Given the description of an element on the screen output the (x, y) to click on. 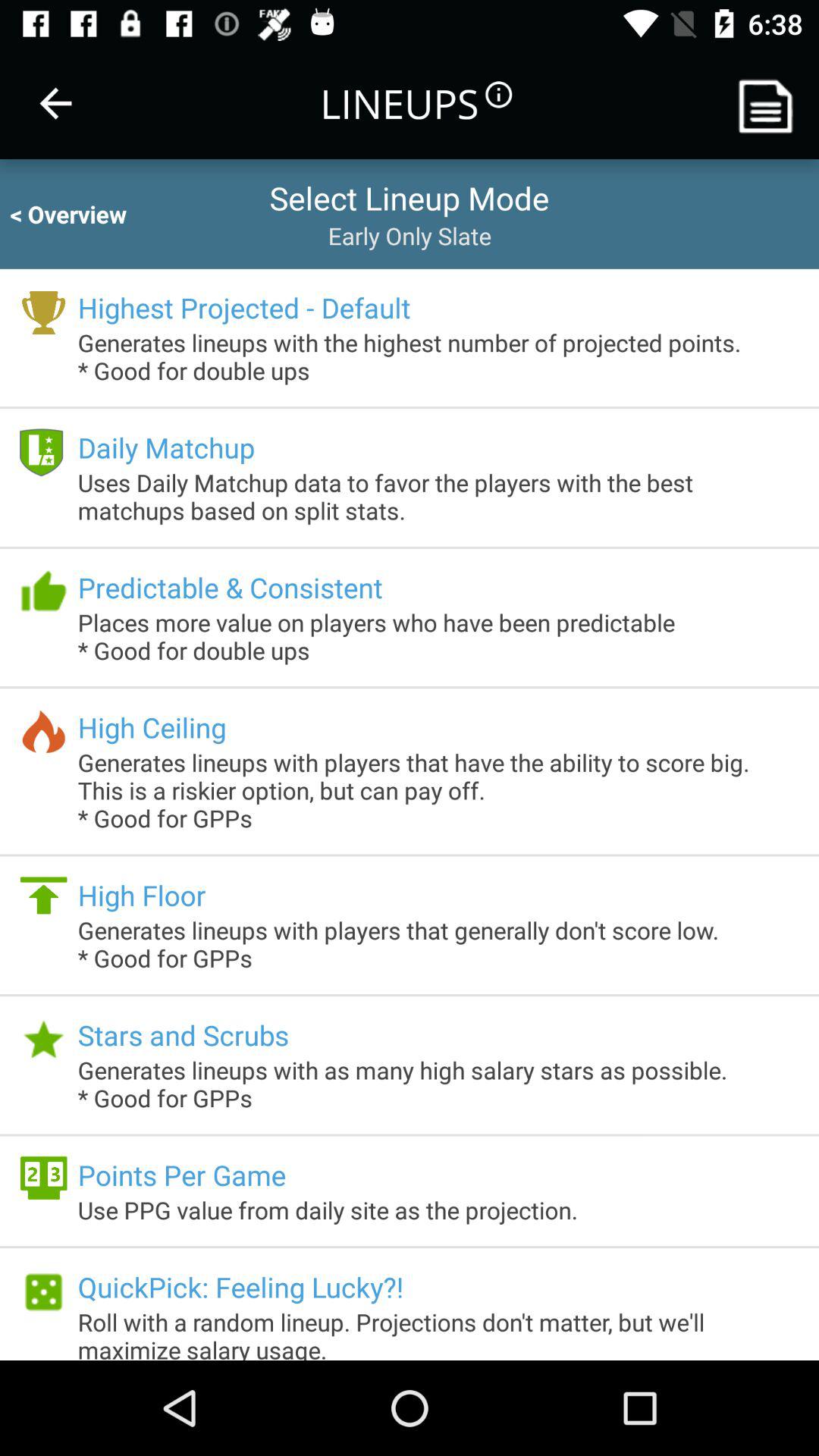
turn on the < overview icon (81, 214)
